Given the description of an element on the screen output the (x, y) to click on. 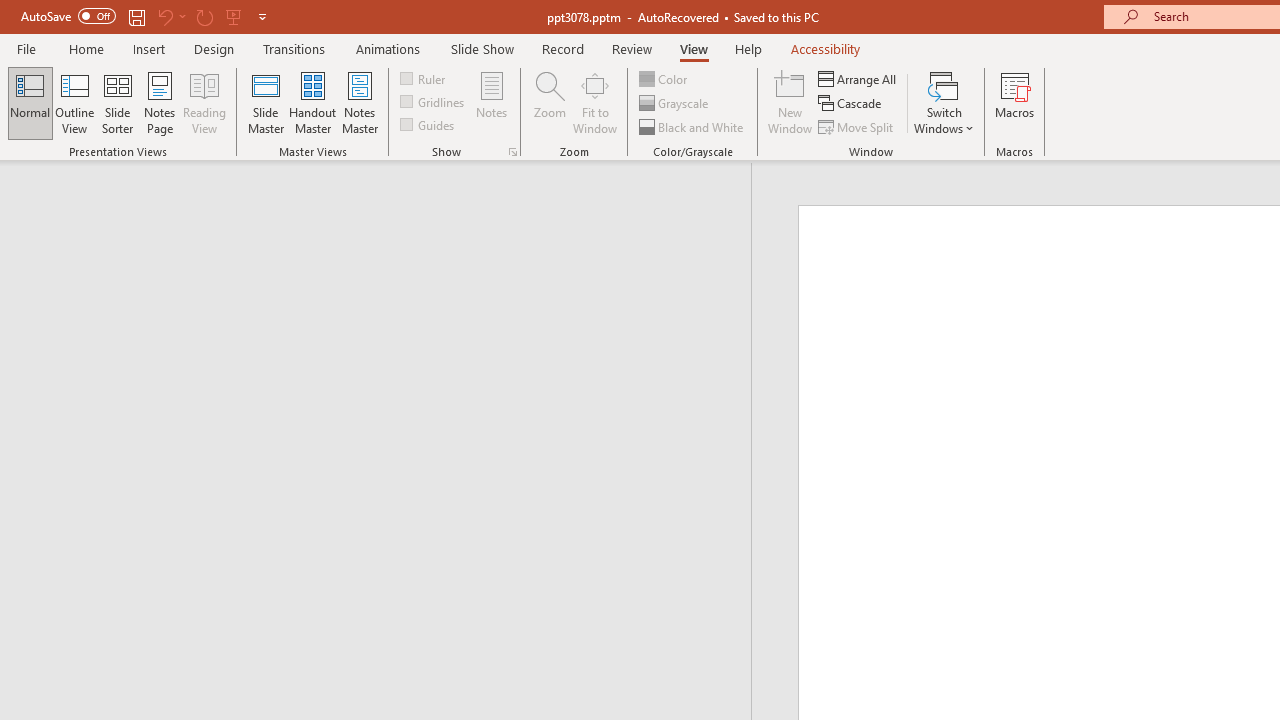
Arrange All (858, 78)
Cascade (851, 103)
Grayscale (675, 103)
Black and White (693, 126)
Guides (428, 124)
Outline (384, 202)
Gridlines (433, 101)
Move Split (857, 126)
